Given the description of an element on the screen output the (x, y) to click on. 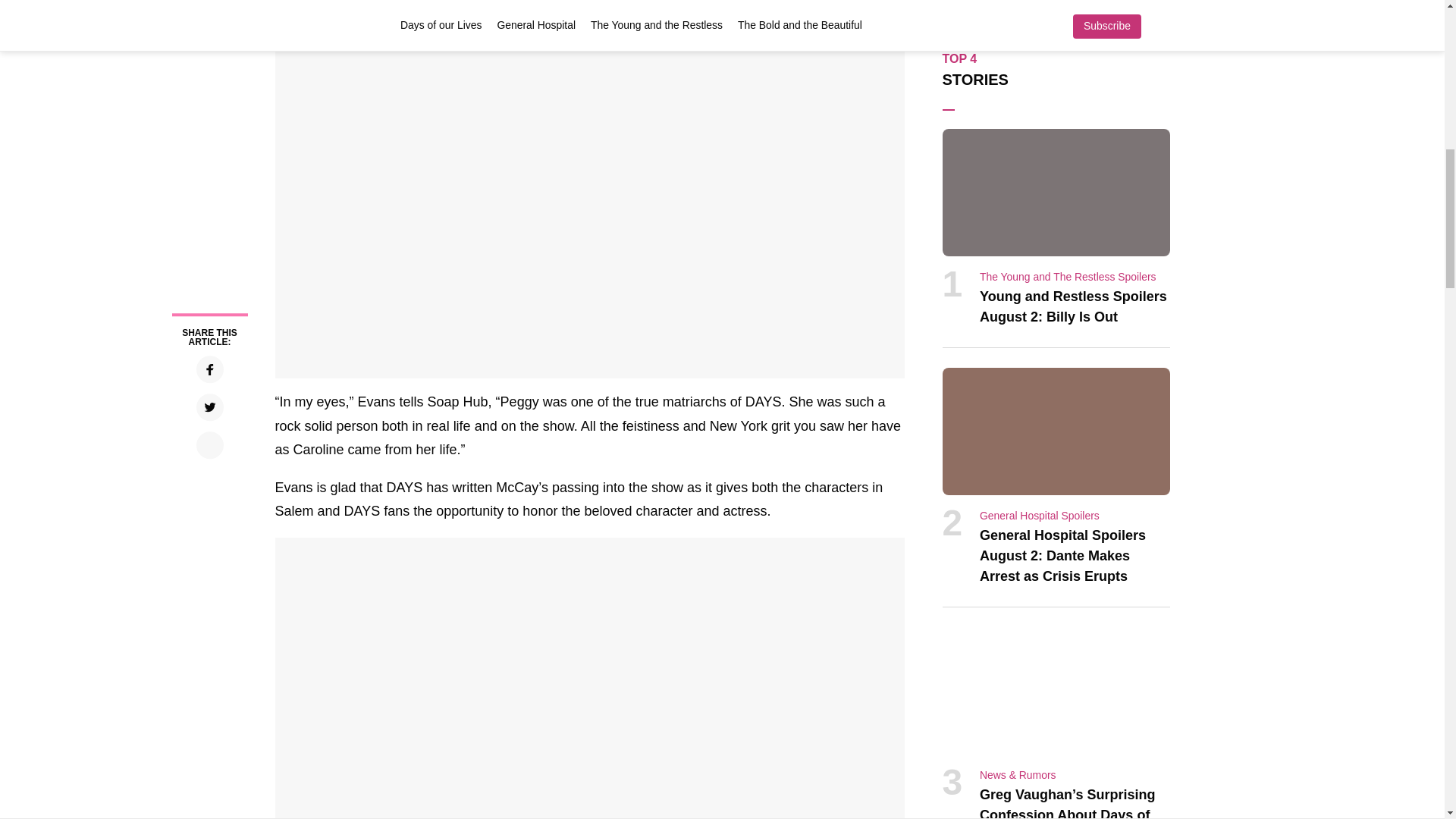
General Hospital Spoilers (1039, 515)
Young and Restless Spoilers August 2: Billy Is Out (1073, 306)
The Young and The Restless Spoilers (1067, 276)
